Given the description of an element on the screen output the (x, y) to click on. 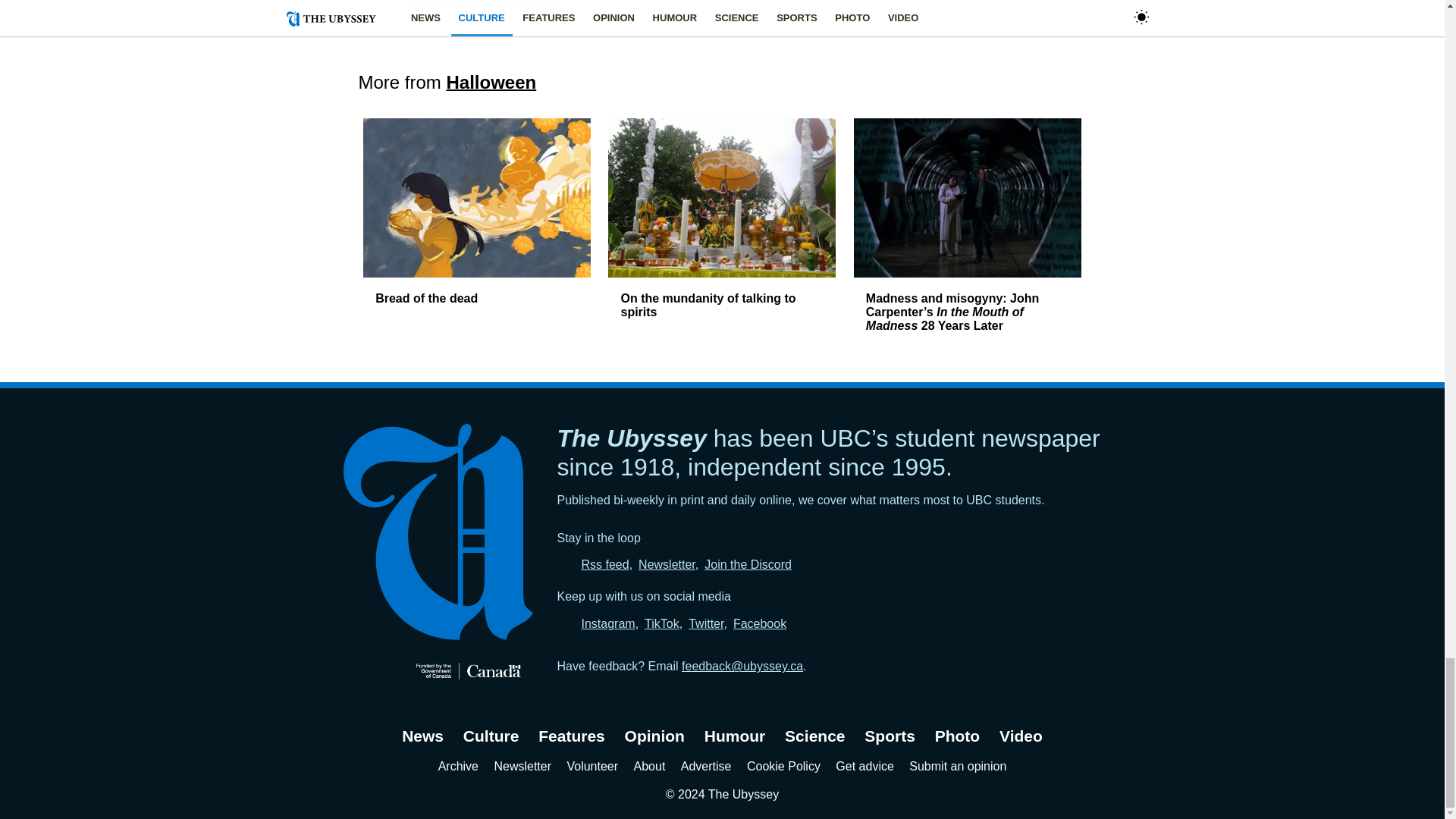
Bread of the dead (426, 297)
See more from Kyla Flynn (479, 1)
On the mundanity of talking to spirits (707, 304)
The Ubyssey on Instagram (607, 623)
Halloween (491, 82)
Discord link (748, 563)
The Ubyssey on Twitter (705, 623)
Rss feed (604, 563)
Email address for feedback (742, 666)
Newsletter (667, 563)
